Given the description of an element on the screen output the (x, y) to click on. 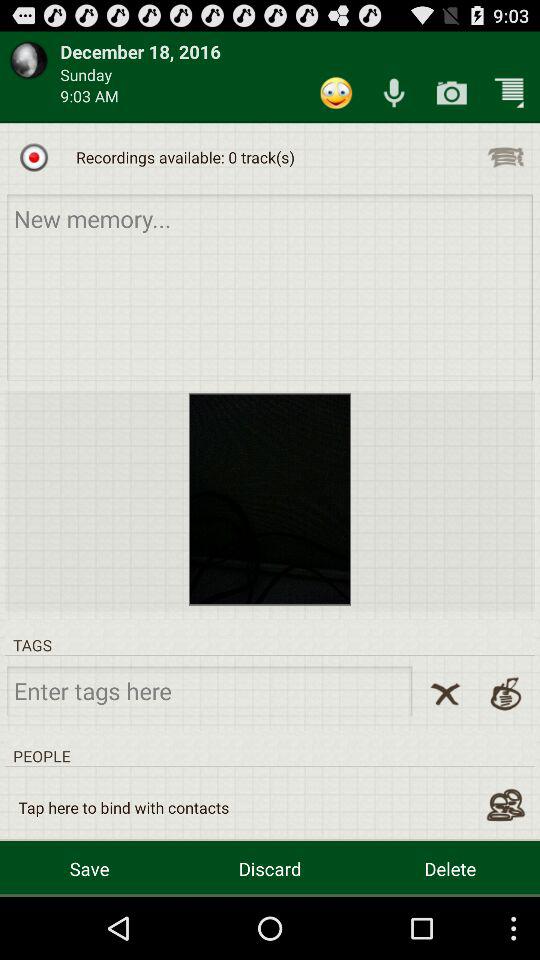
insert audio from gallery (505, 157)
